Given the description of an element on the screen output the (x, y) to click on. 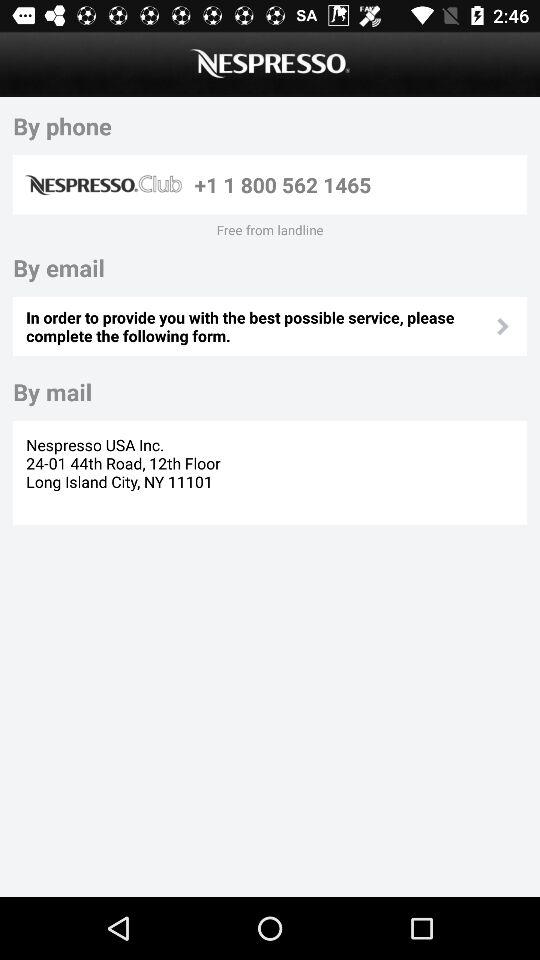
turn on icon above free from landline item (357, 184)
